Given the description of an element on the screen output the (x, y) to click on. 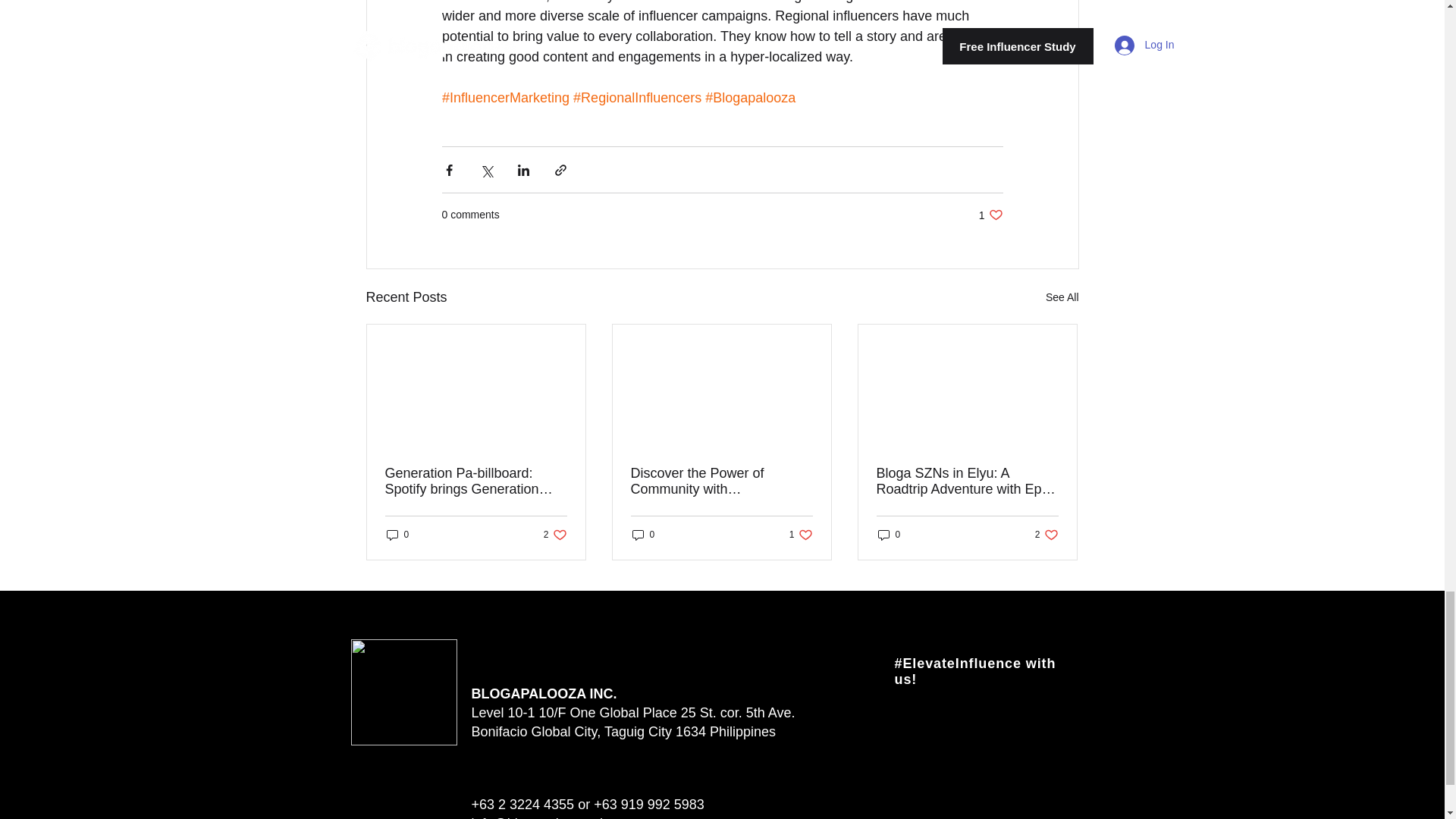
See All (1061, 297)
Discover the Power of Community with Blogapalooza (721, 481)
0 (990, 214)
0 (555, 534)
